Given the description of an element on the screen output the (x, y) to click on. 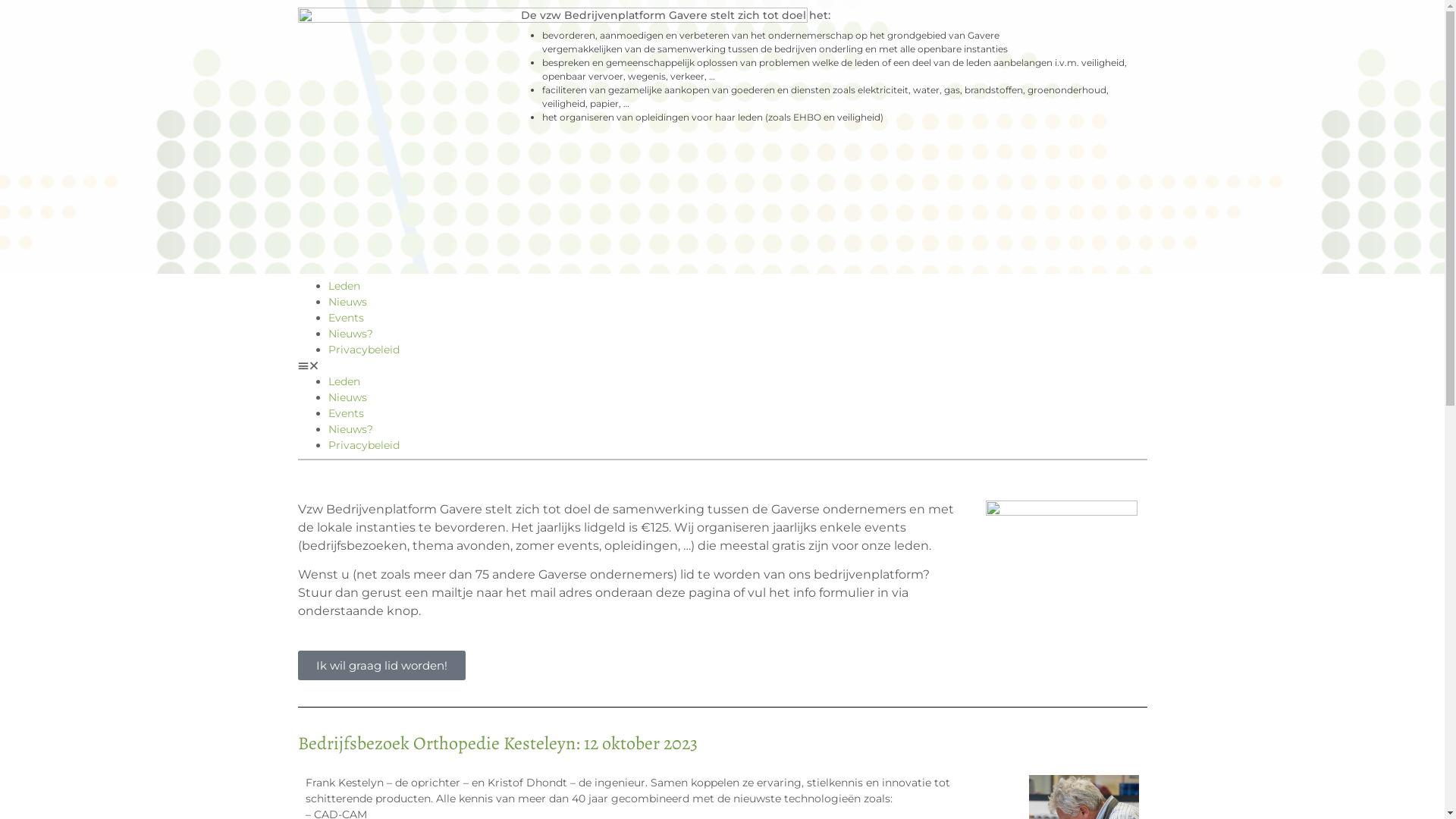
Nieuws Element type: text (346, 301)
Leden Element type: text (343, 285)
Nieuws? Element type: text (349, 333)
Leden Element type: text (343, 381)
Privacybeleid Element type: text (362, 349)
Events Element type: text (345, 317)
Privacybeleid Element type: text (362, 444)
Ik wil graag lid worden! Element type: text (380, 665)
Nieuws Element type: text (346, 397)
Nieuws? Element type: text (349, 429)
Events Element type: text (345, 413)
